Given the description of an element on the screen output the (x, y) to click on. 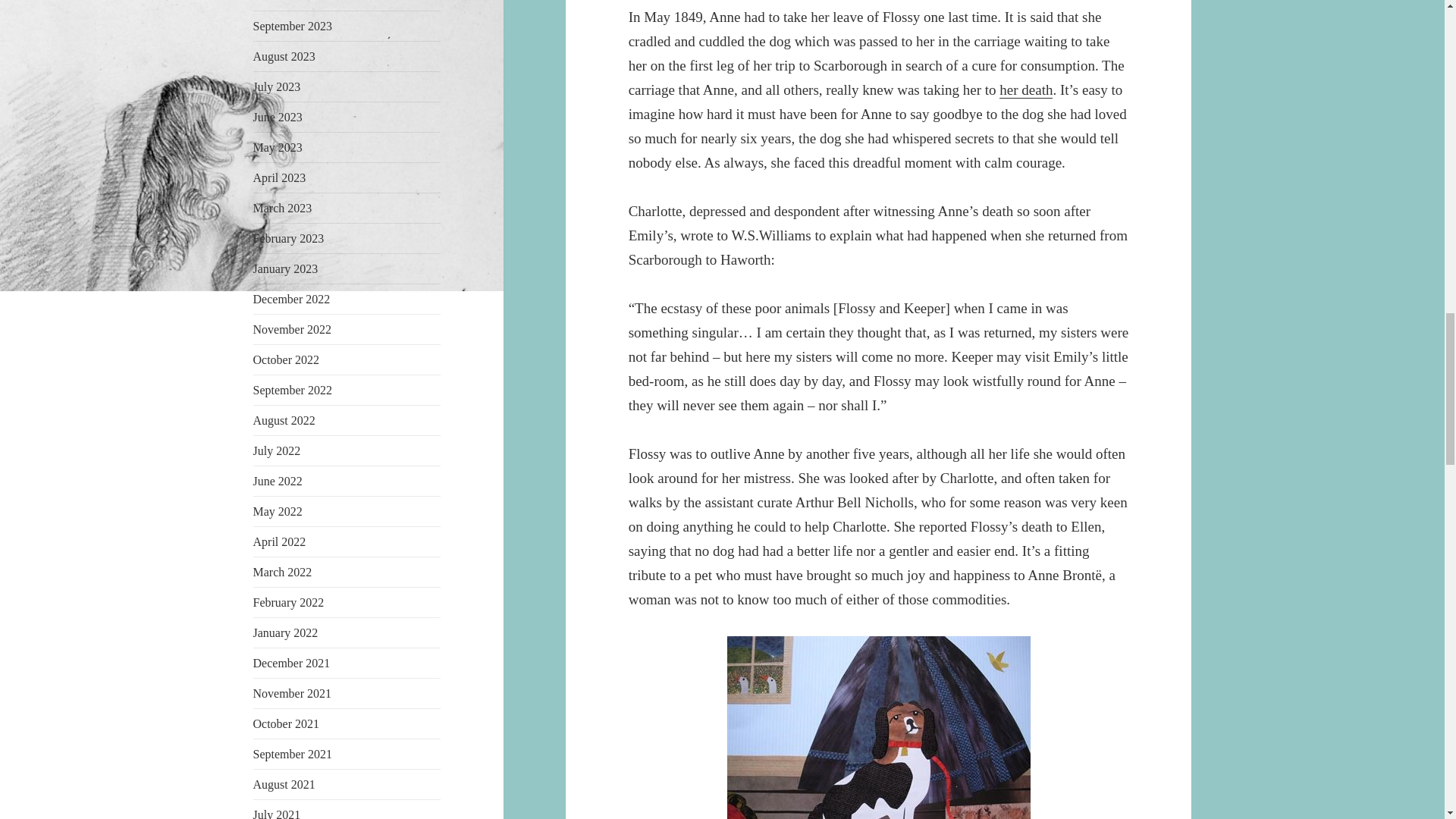
April 2023 (279, 177)
March 2023 (283, 207)
August 2023 (284, 56)
October 2022 (286, 359)
June 2023 (277, 116)
May 2023 (277, 146)
December 2022 (291, 298)
July 2023 (277, 86)
September 2023 (292, 25)
November 2022 (292, 328)
